Given the description of an element on the screen output the (x, y) to click on. 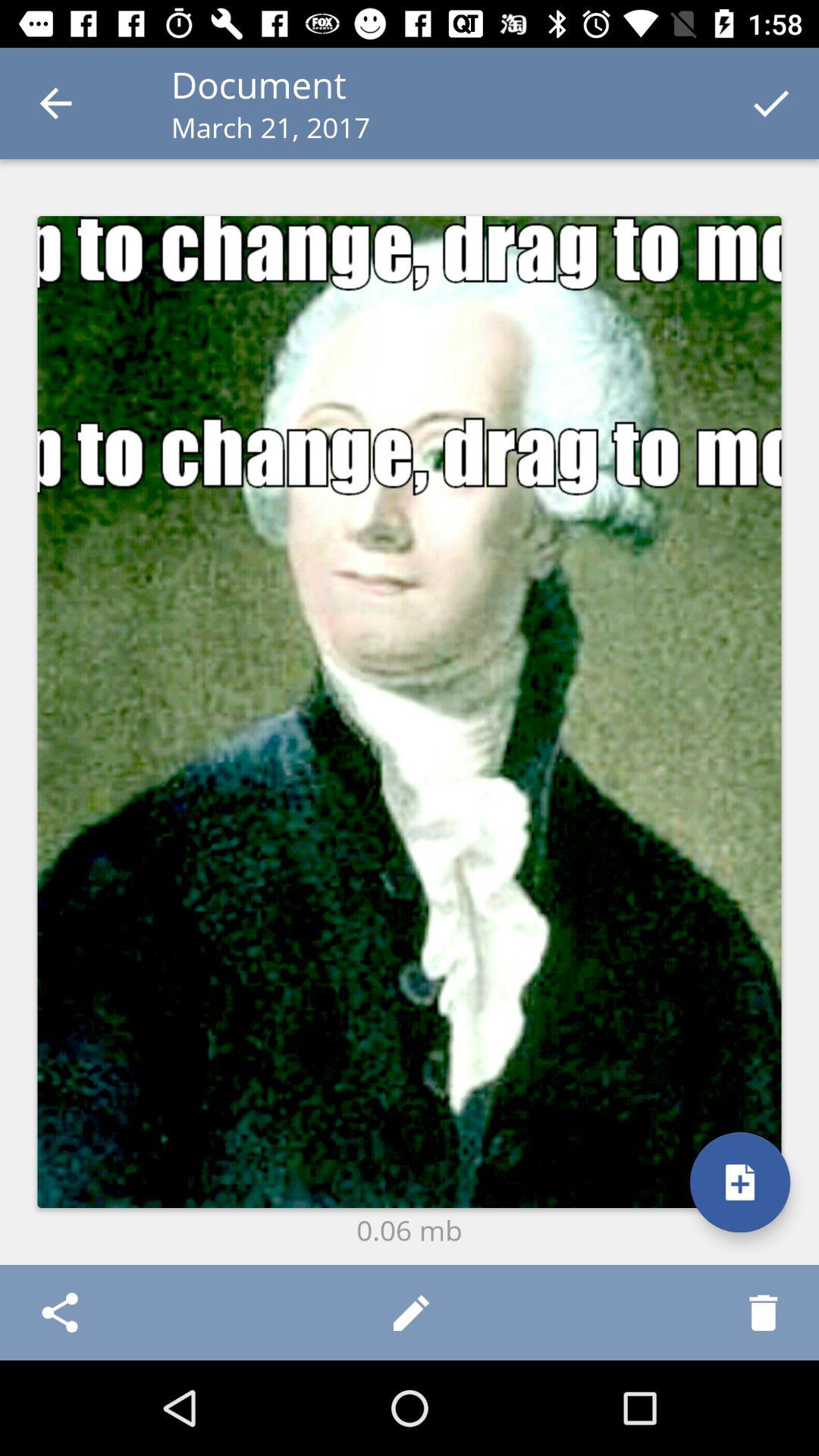
select item at the bottom left corner (59, 1312)
